Given the description of an element on the screen output the (x, y) to click on. 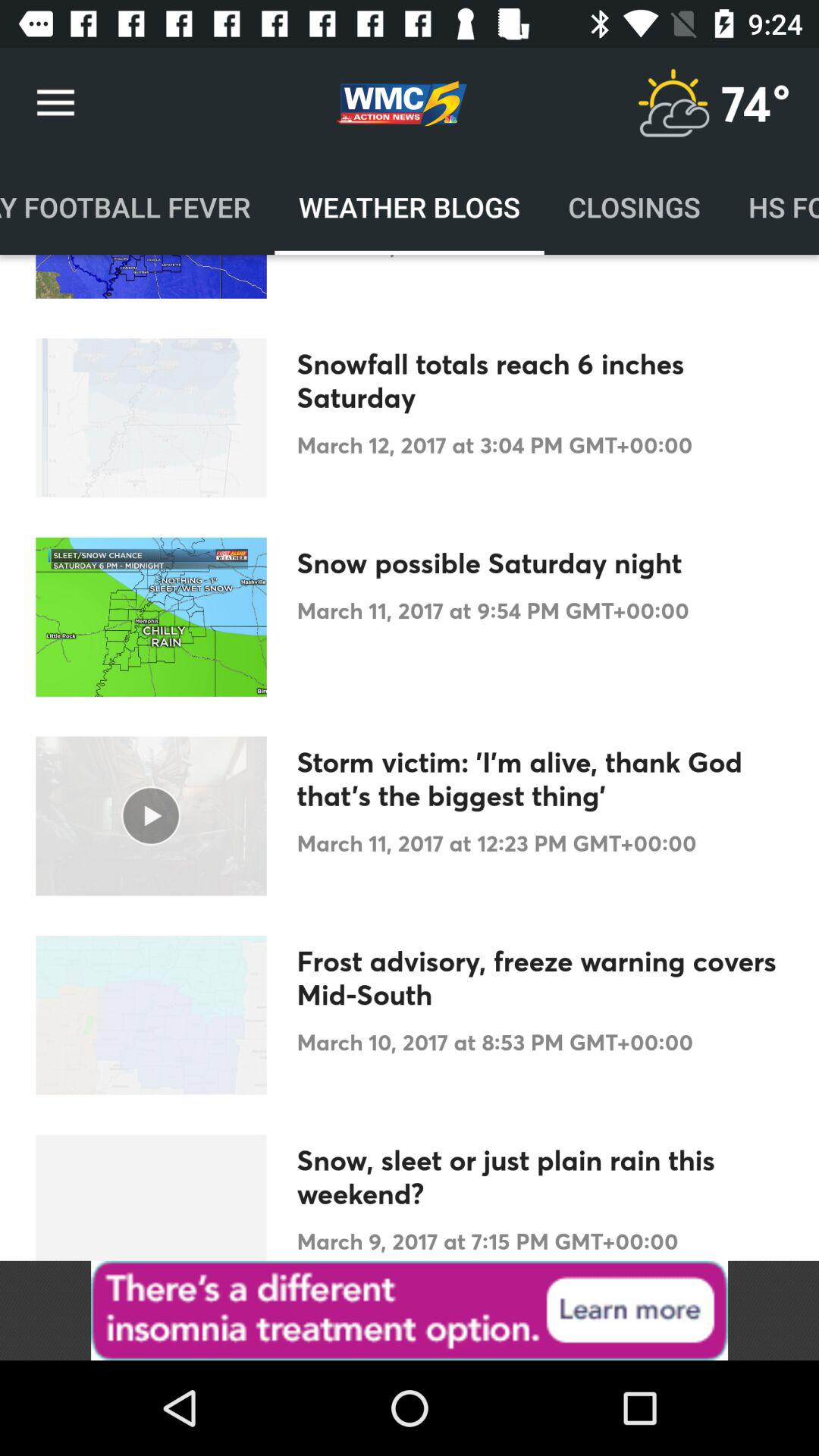
open weather information (673, 103)
